Given the description of an element on the screen output the (x, y) to click on. 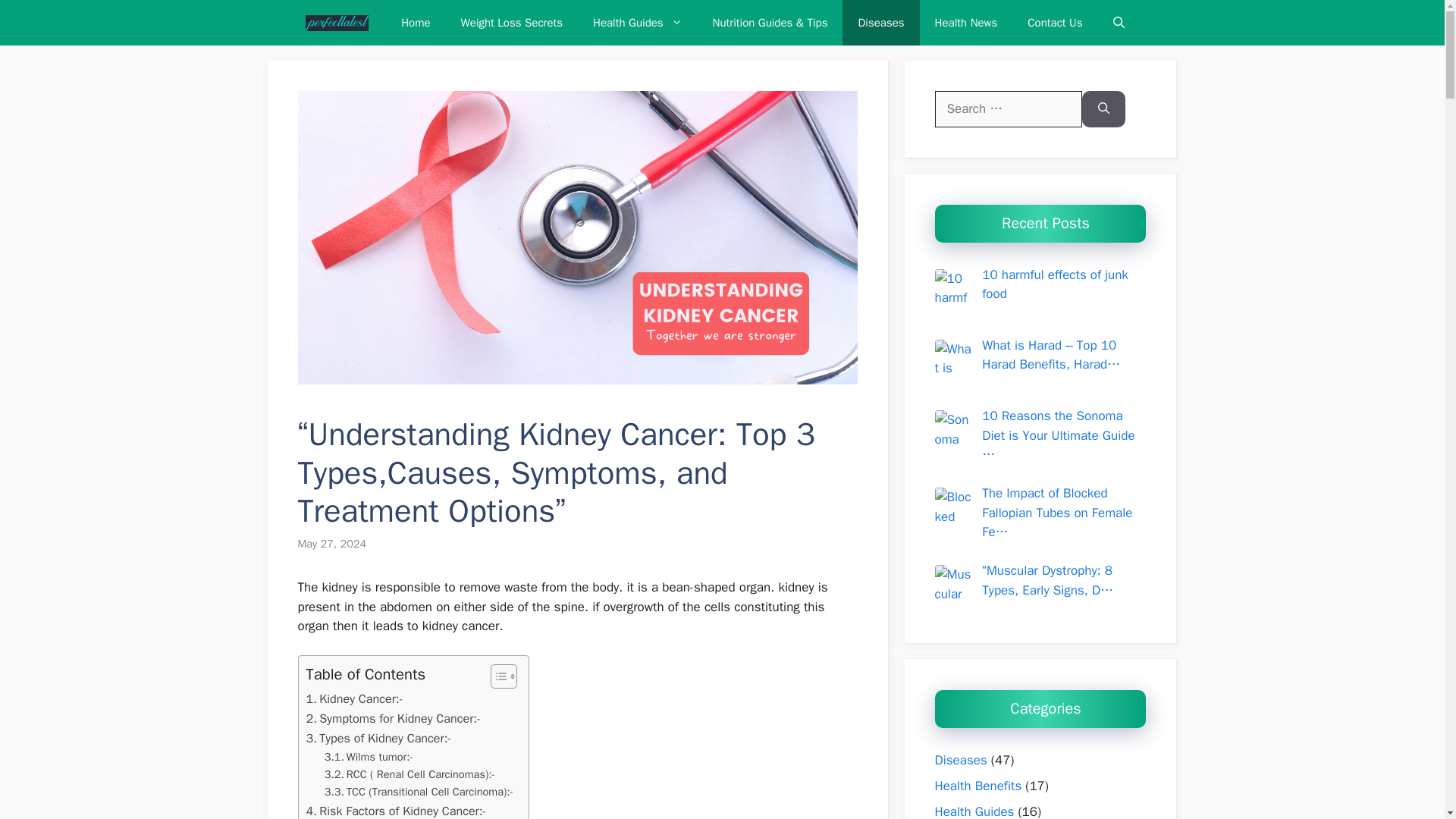
Symptoms for Kidney Cancer:- (393, 718)
Diseases (880, 22)
Contact Us (1054, 22)
Risk Factors of Kidney Cancer:- (395, 810)
Kidney Cancer:- (354, 699)
Types of Kidney Cancer:- (378, 738)
Home (415, 22)
Perfect Latest (336, 22)
Kidney Cancer:- (354, 699)
Symptoms for Kidney Cancer:- (393, 718)
